Given the description of an element on the screen output the (x, y) to click on. 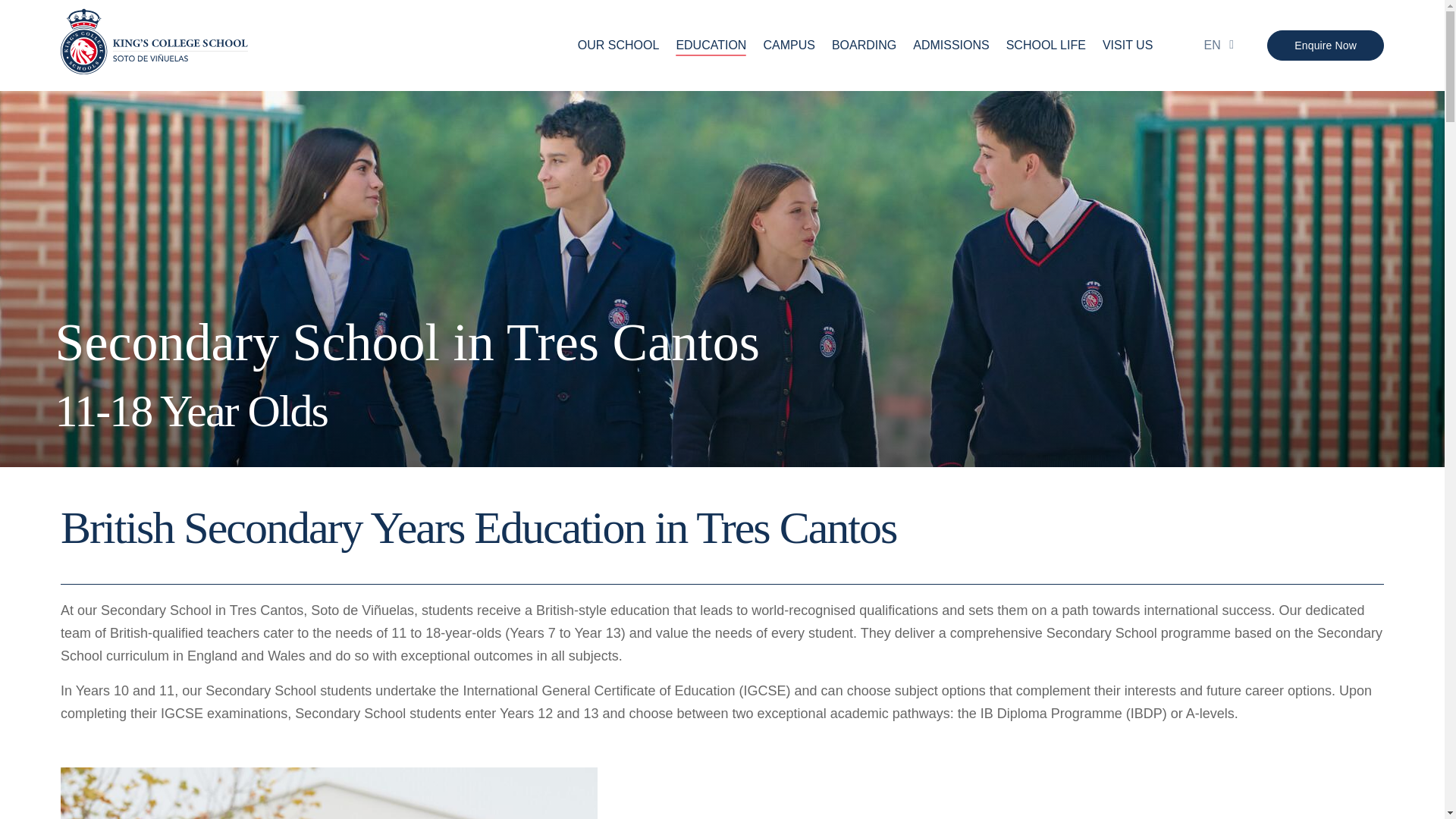
King's College Soto (154, 45)
CAMPUS (787, 45)
Skip to main content (721, 1)
SCHOOL LIFE (1046, 45)
EDUCATION (710, 45)
Best Secondary education in Tres Cantos (328, 793)
BOARDING (863, 45)
OUR SCHOOL (618, 45)
ADMISSIONS (950, 45)
